Given the description of an element on the screen output the (x, y) to click on. 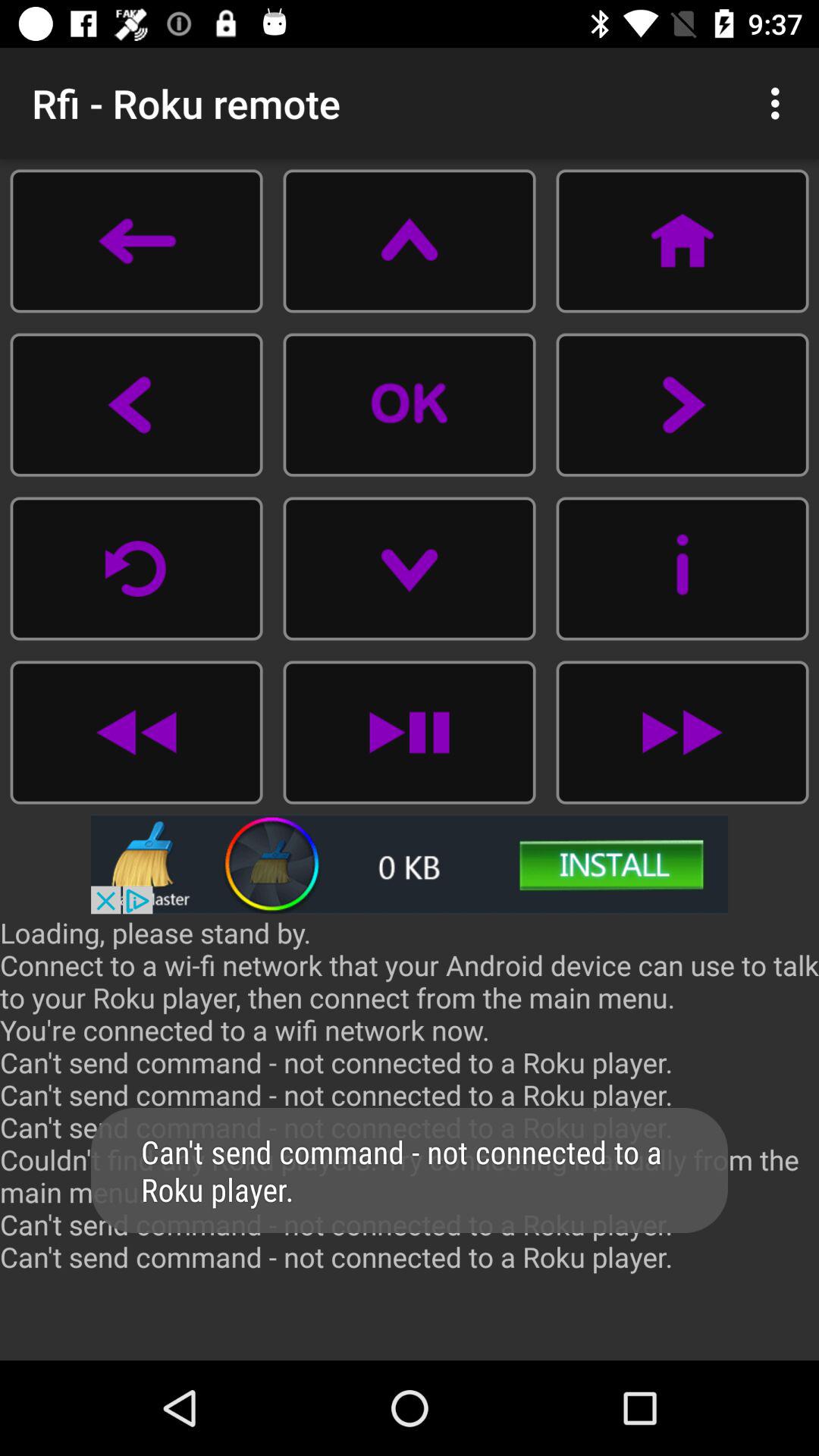
to view add (409, 863)
